Given the description of an element on the screen output the (x, y) to click on. 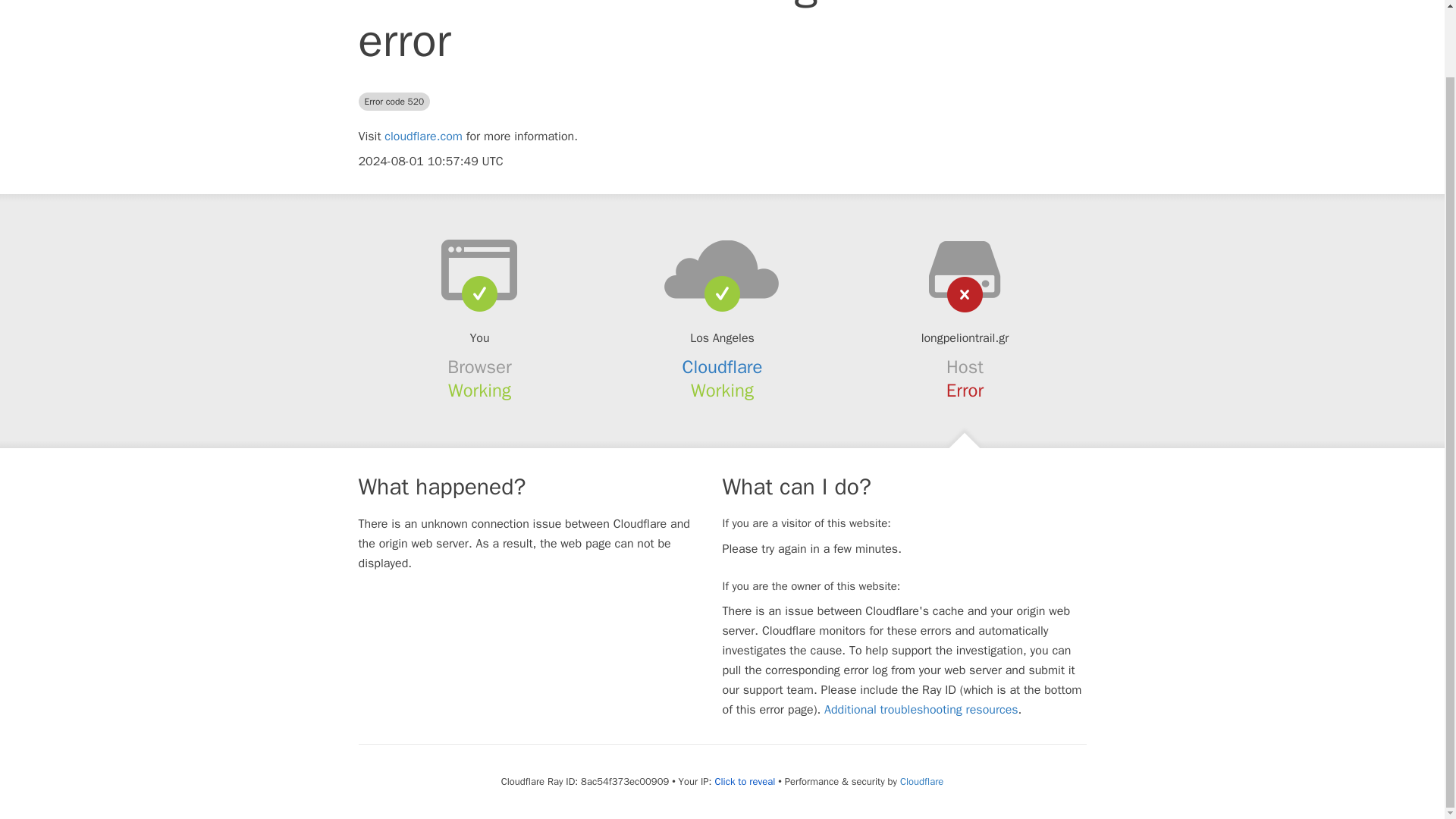
Additional troubleshooting resources (920, 709)
Click to reveal (744, 781)
cloudflare.com (423, 136)
Cloudflare (921, 780)
Cloudflare (722, 366)
